Given the description of an element on the screen output the (x, y) to click on. 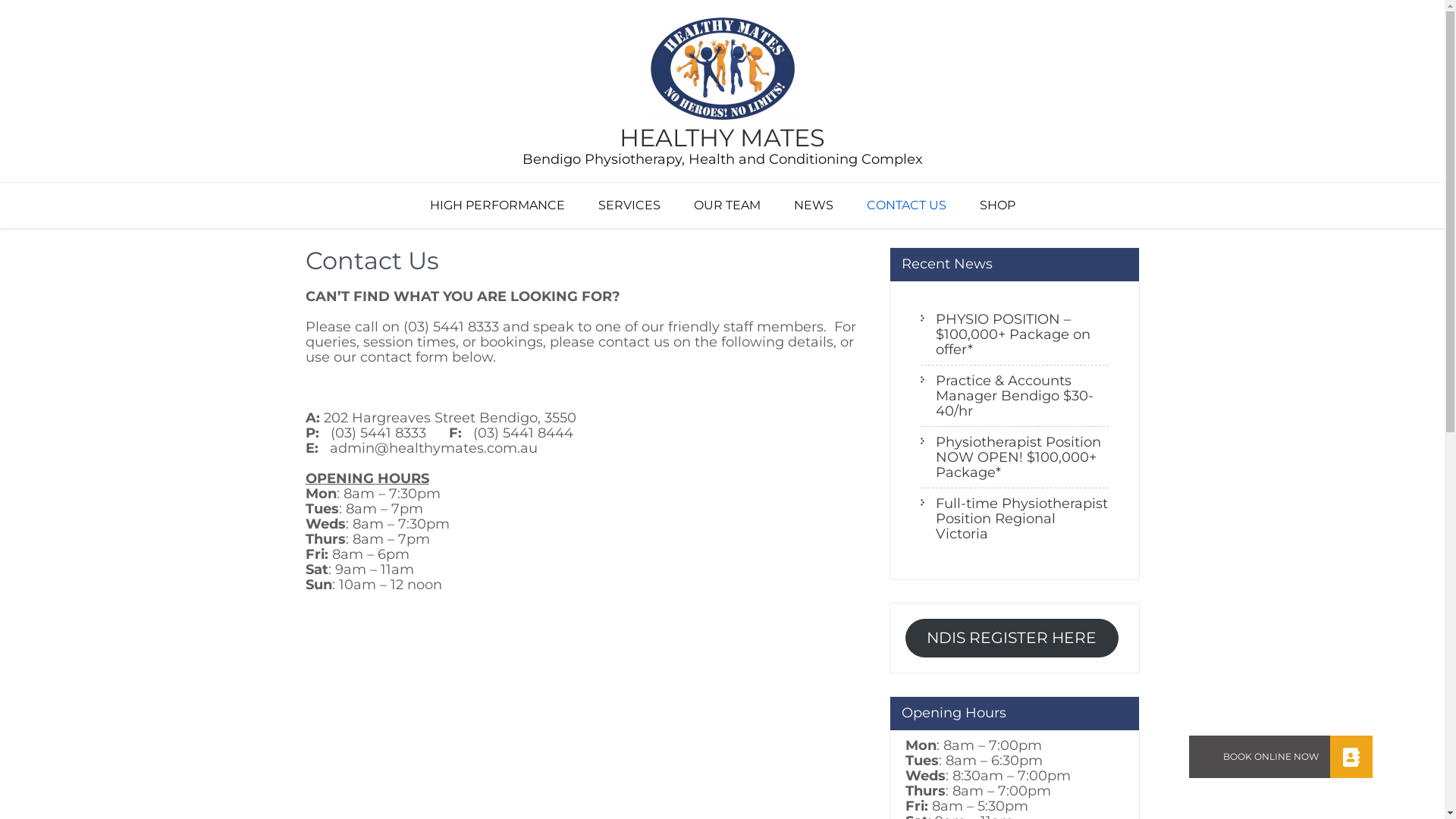
BOOK ONLINE NOW Element type: text (1351, 756)
Full-time Physiotherapist Position Regional Victoria Element type: text (1014, 518)
Practice & Accounts Manager Bendigo $30-40/hr Element type: text (1014, 395)
CONTACT US Element type: text (905, 205)
HIGH PERFORMANCE Element type: text (496, 205)
SHOP Element type: text (997, 205)
NEWS Element type: text (812, 205)
NDIS REGISTER HERE Element type: text (1012, 637)
OUR TEAM Element type: text (726, 205)
Physiotherapist Position NOW OPEN! $100,000+ Package* Element type: text (1014, 457)
SERVICES Element type: text (628, 205)
HEALTHY MATES Element type: text (722, 137)
